Given the description of an element on the screen output the (x, y) to click on. 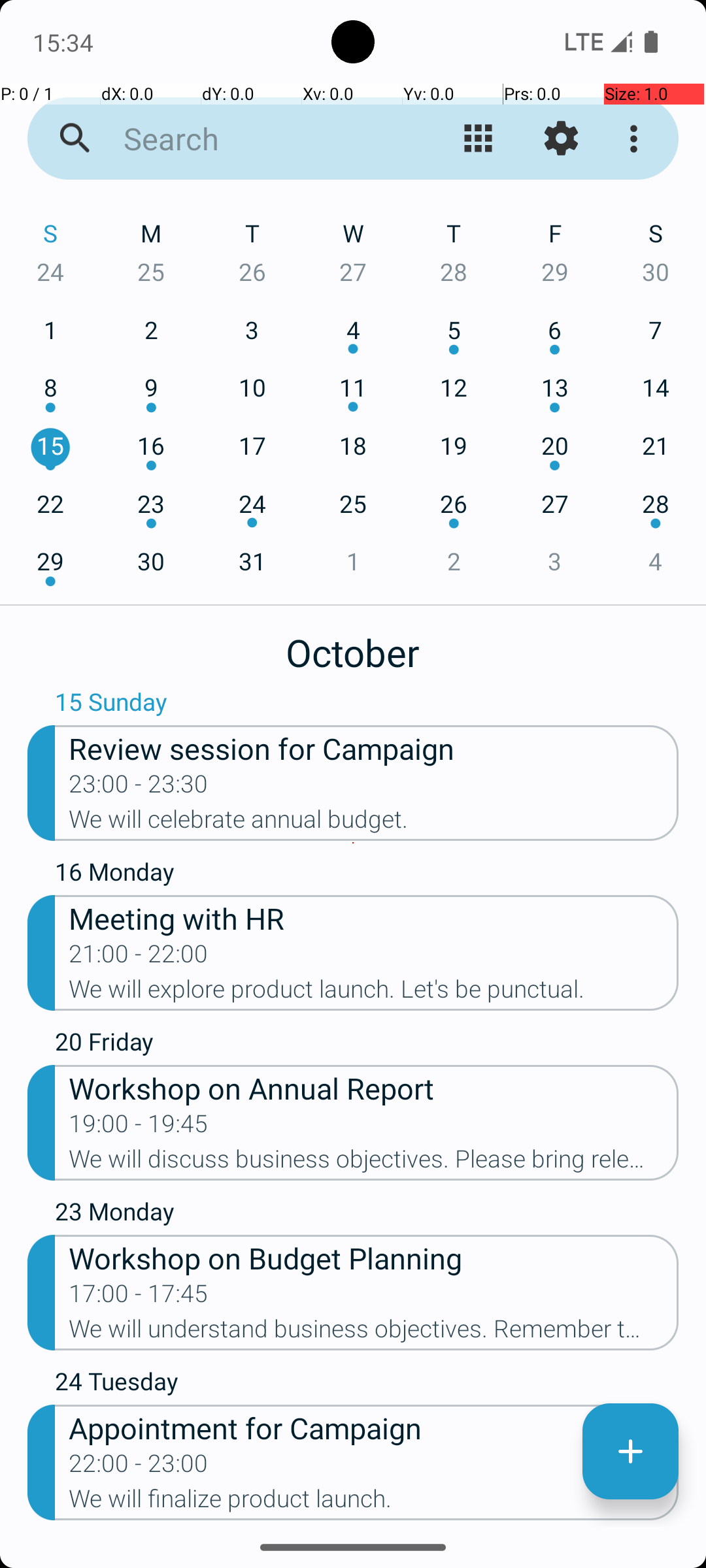
15 Sunday Element type: android.widget.TextView (366, 704)
16 Monday Element type: android.widget.TextView (366, 874)
20 Friday Element type: android.widget.TextView (366, 1044)
23 Monday Element type: android.widget.TextView (366, 1214)
24 Tuesday Element type: android.widget.TextView (366, 1384)
Review session for Campaign Element type: android.widget.TextView (373, 747)
23:00 - 23:30 Element type: android.widget.TextView (137, 787)
We will celebrate annual budget. Element type: android.widget.TextView (373, 822)
Meeting with HR Element type: android.widget.TextView (373, 917)
21:00 - 22:00 Element type: android.widget.TextView (137, 957)
We will explore product launch. Let's be punctual. Element type: android.widget.TextView (373, 992)
Workshop on Annual Report Element type: android.widget.TextView (373, 1087)
19:00 - 19:45 Element type: android.widget.TextView (137, 1127)
We will discuss business objectives. Please bring relevant documents. Element type: android.widget.TextView (373, 1162)
Workshop on Budget Planning Element type: android.widget.TextView (373, 1256)
17:00 - 17:45 Element type: android.widget.TextView (137, 1297)
We will understand business objectives. Remember to confirm attendance. Element type: android.widget.TextView (373, 1332)
Appointment for Campaign Element type: android.widget.TextView (373, 1426)
22:00 - 23:00 Element type: android.widget.TextView (137, 1467)
We will finalize product launch. Element type: android.widget.TextView (373, 1502)
